Given the description of an element on the screen output the (x, y) to click on. 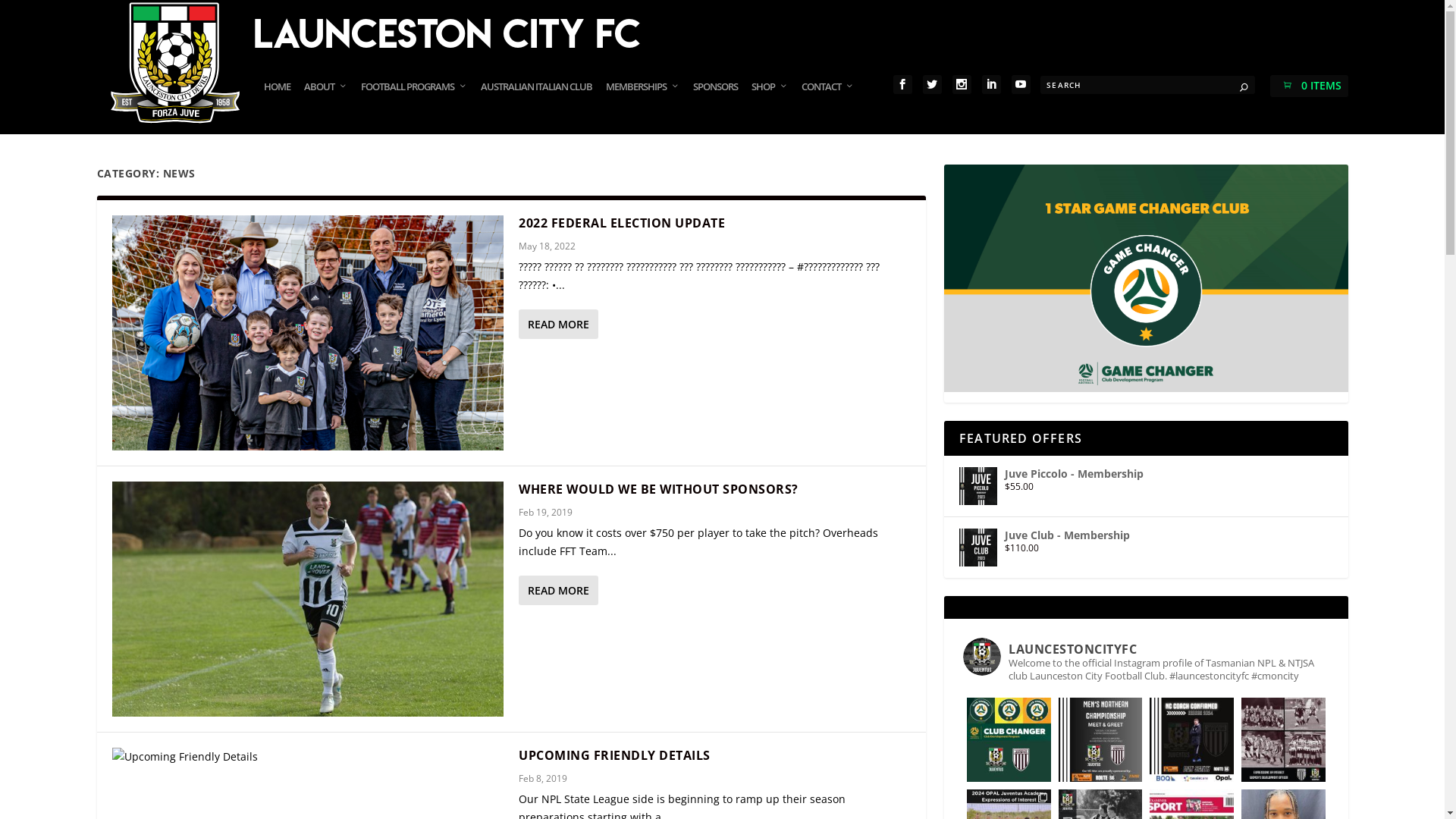
Juve Piccolo - Membership Element type: text (1146, 473)
READ MORE Element type: text (558, 590)
Juve Club - Membership Element type: text (1146, 535)
MEMBERSHIPS Element type: text (642, 101)
WHERE WOULD WE BE WITHOUT SPONSORS? Element type: text (658, 488)
2022 FEDERAL ELECTION UPDATE Element type: text (621, 222)
Search for: Element type: hover (1147, 84)
SHOP Element type: text (769, 101)
Where Would We Be Without Sponsors? Element type: hover (308, 598)
AUSTRALIAN ITALIAN CLUB Element type: text (536, 101)
Upcoming Friendly Details Element type: hover (308, 756)
FOOTBALL PROGRAMS Element type: text (413, 101)
HOME Element type: text (276, 101)
2022 Federal Election Update Element type: hover (308, 332)
UPCOMING FRIENDLY DETAILS Element type: text (614, 754)
0 ITEMS Element type: text (1309, 85)
READ MORE Element type: text (558, 323)
SPONSORS Element type: text (715, 101)
CONTACT Element type: text (827, 101)
ABOUT Element type: text (325, 101)
